Given the description of an element on the screen output the (x, y) to click on. 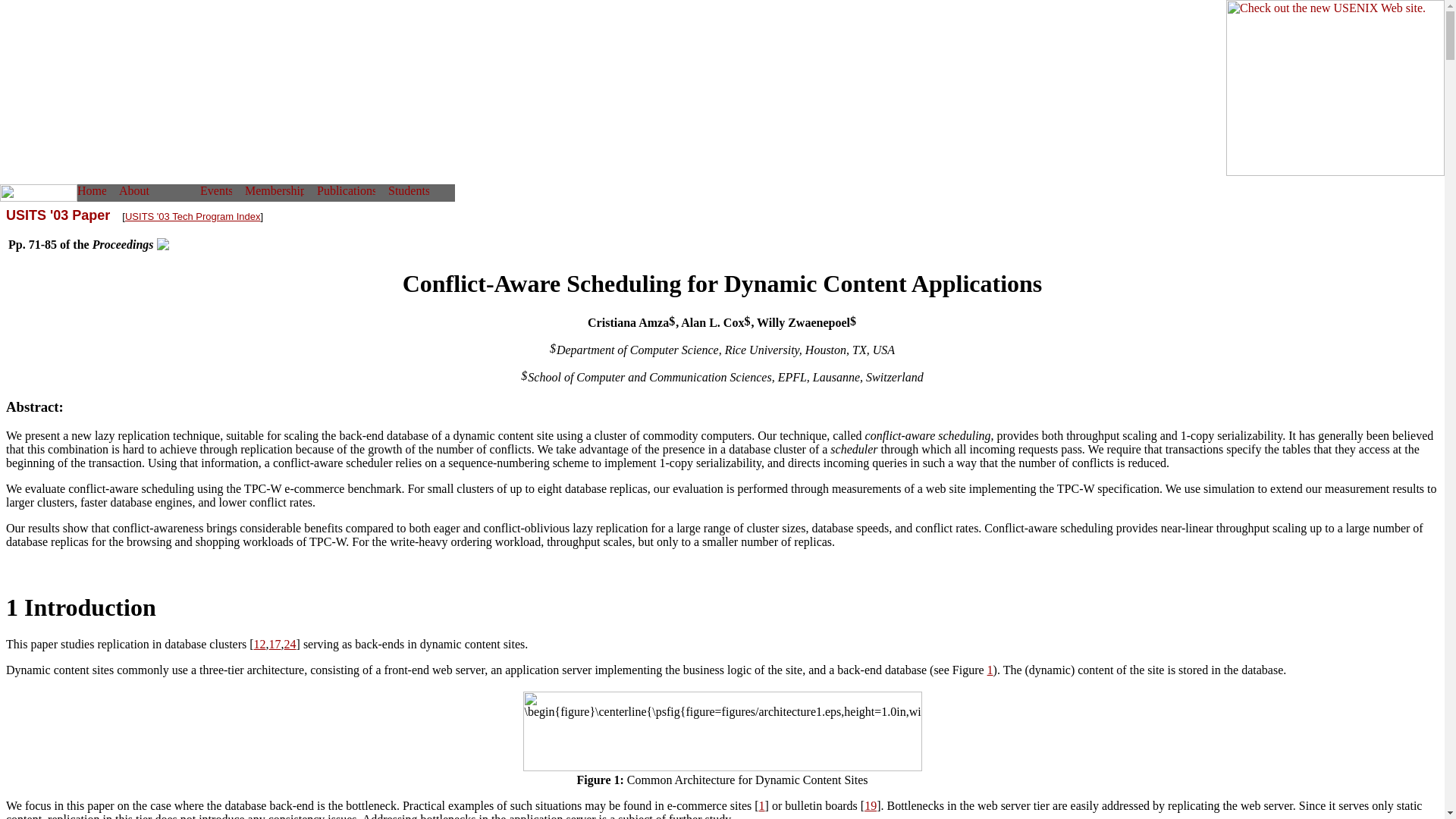
17 (275, 644)
12 (259, 644)
USITS '03 Tech Program Index (192, 215)
19 (870, 805)
24 (290, 644)
